Given the description of an element on the screen output the (x, y) to click on. 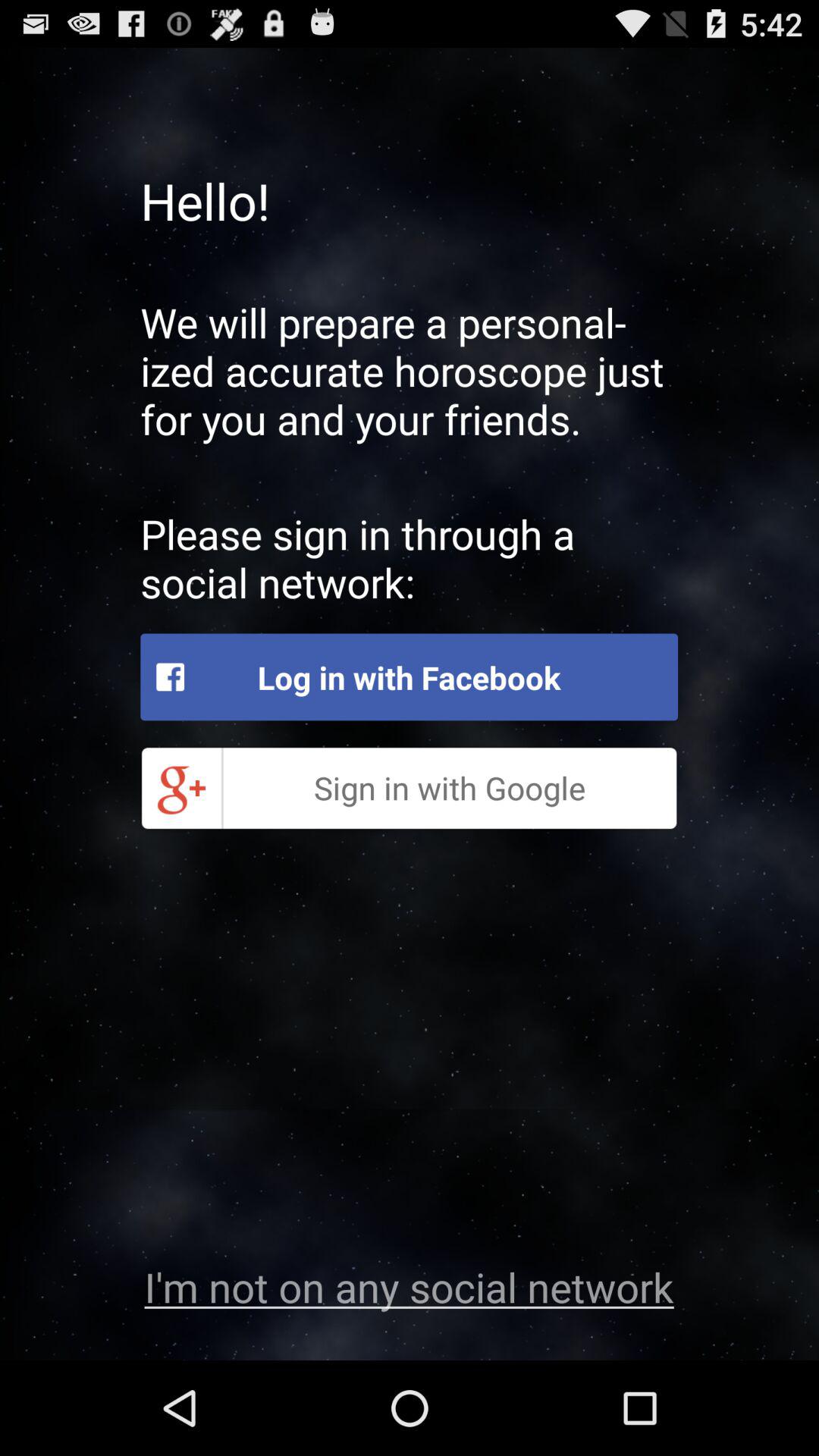
choose the app at the bottom (409, 1286)
